Given the description of an element on the screen output the (x, y) to click on. 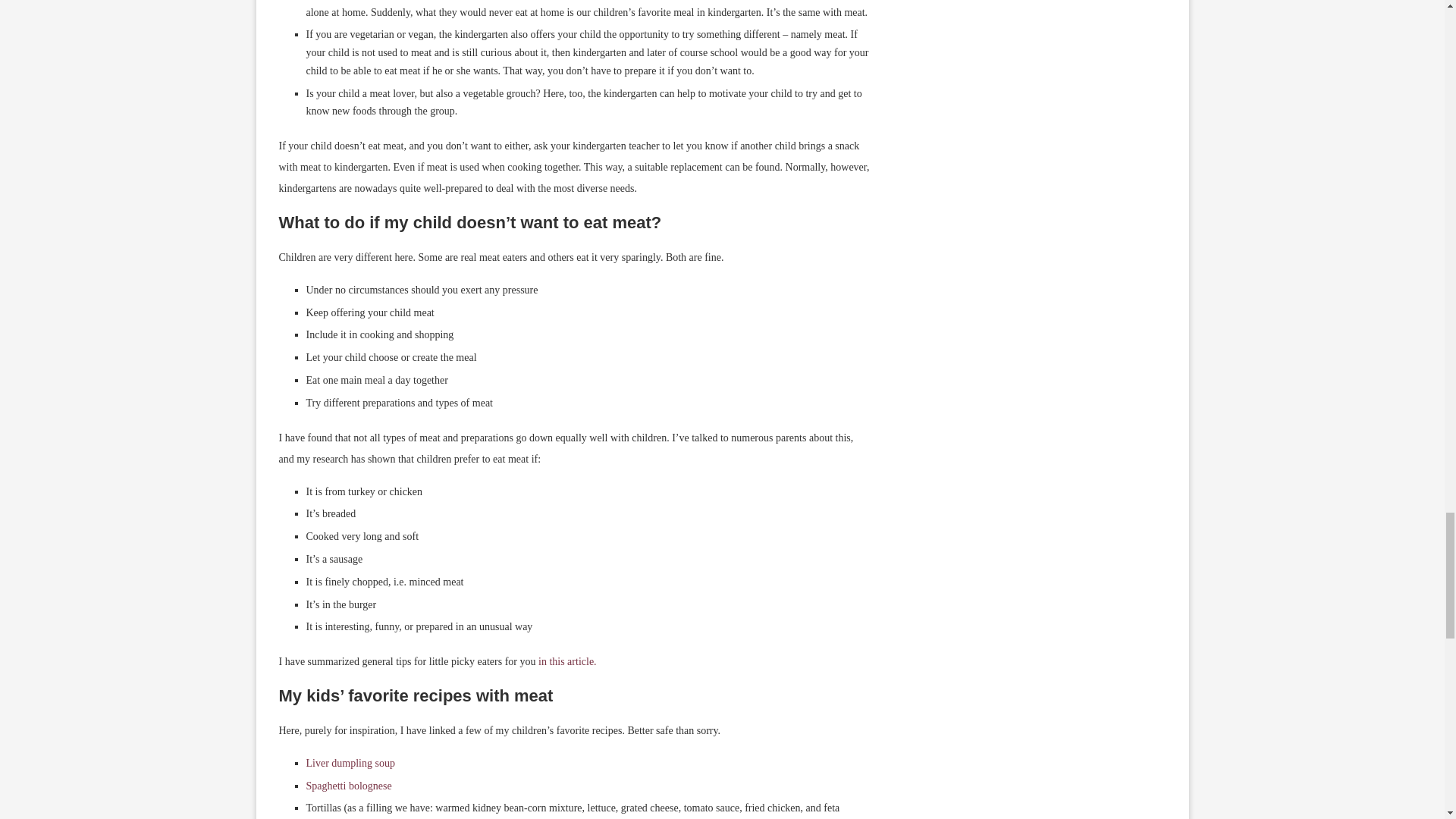
Spaghetti bolognese (348, 785)
Liver dumpling soup (349, 763)
 in this article. (565, 661)
